Given the description of an element on the screen output the (x, y) to click on. 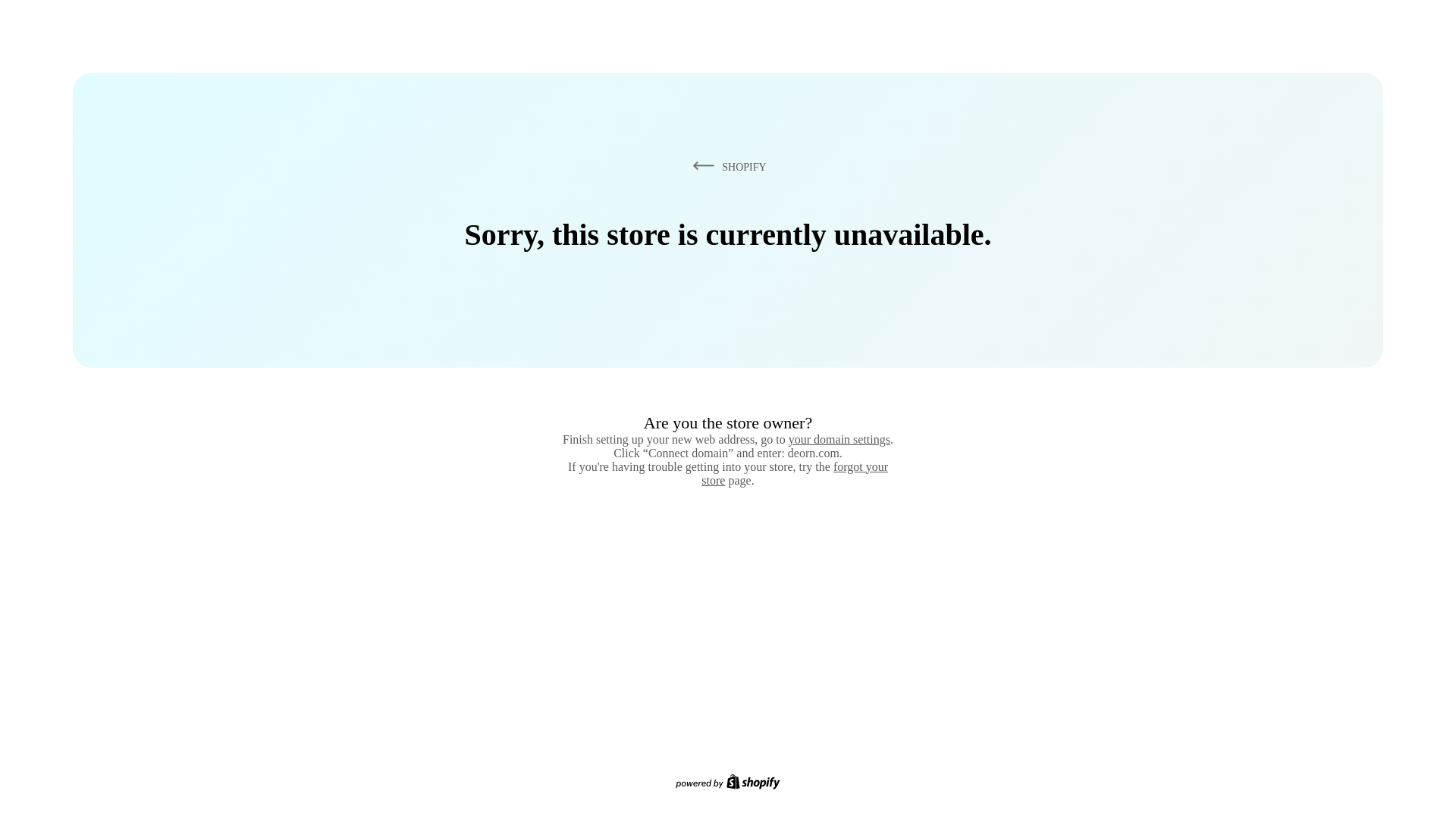
forgot your store (794, 473)
your domain settings (839, 439)
SHOPIFY (726, 166)
